Given the description of an element on the screen output the (x, y) to click on. 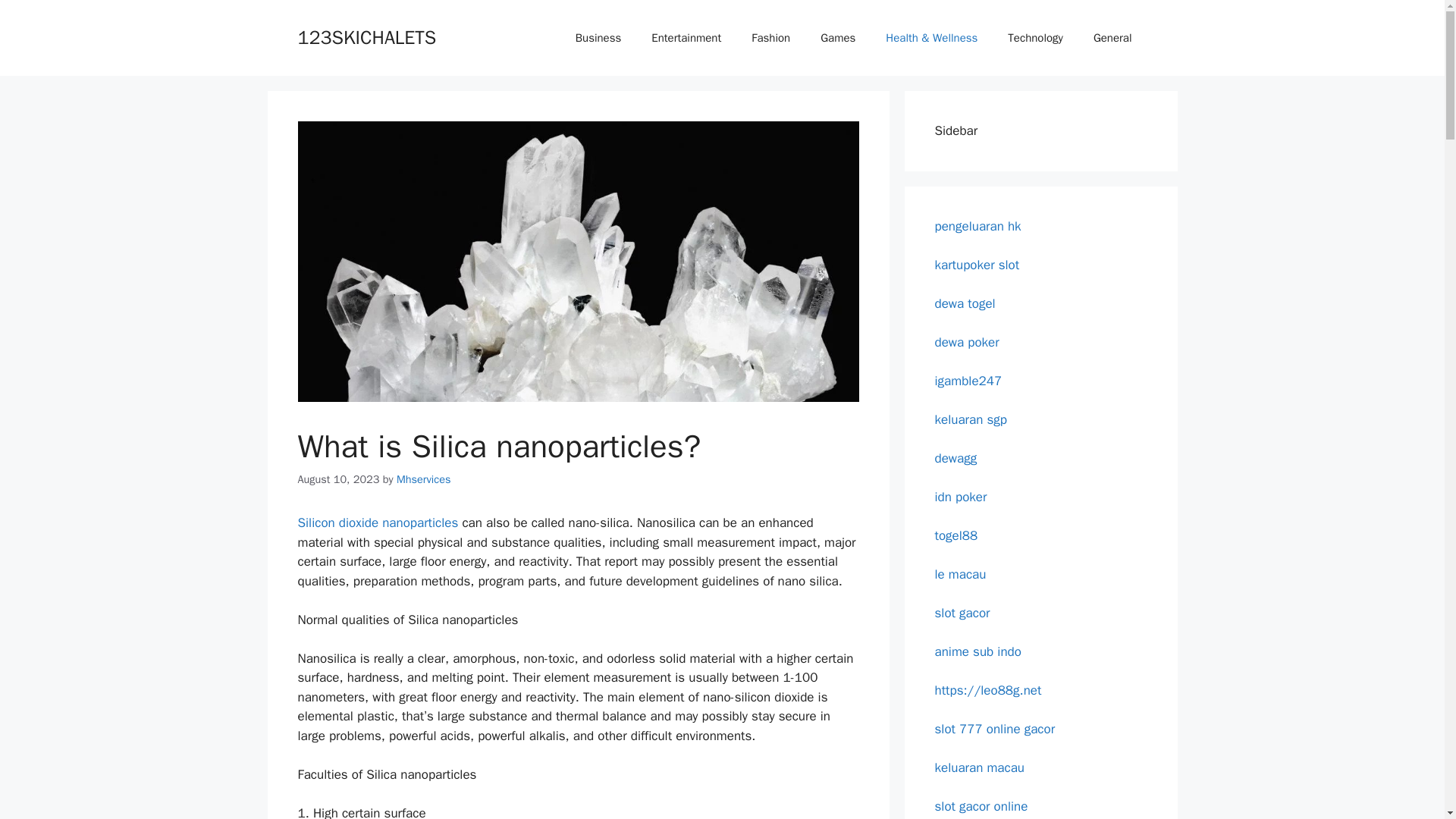
General (1112, 37)
anime sub indo (977, 650)
dewagg (955, 458)
keluaran sgp (970, 418)
123SKICHALETS (366, 37)
dewa togel (964, 303)
Fashion (770, 37)
idn poker (960, 496)
View all posts by Mhservices (423, 479)
Silicon dioxide nanoparticles (377, 522)
